Given the description of an element on the screen output the (x, y) to click on. 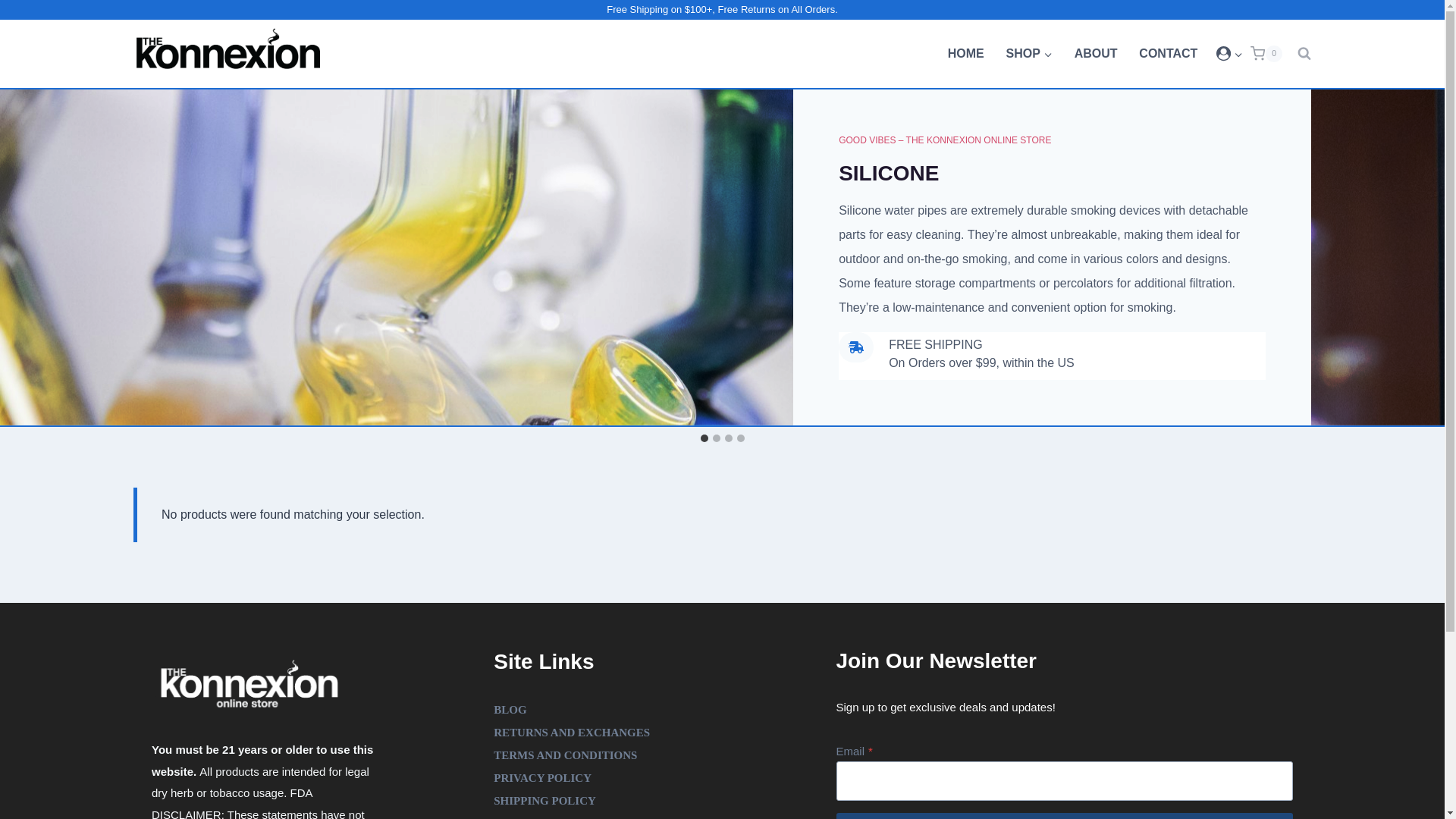
ABOUT (1095, 54)
SHOP (1028, 54)
HOME (965, 54)
